Given the description of an element on the screen output the (x, y) to click on. 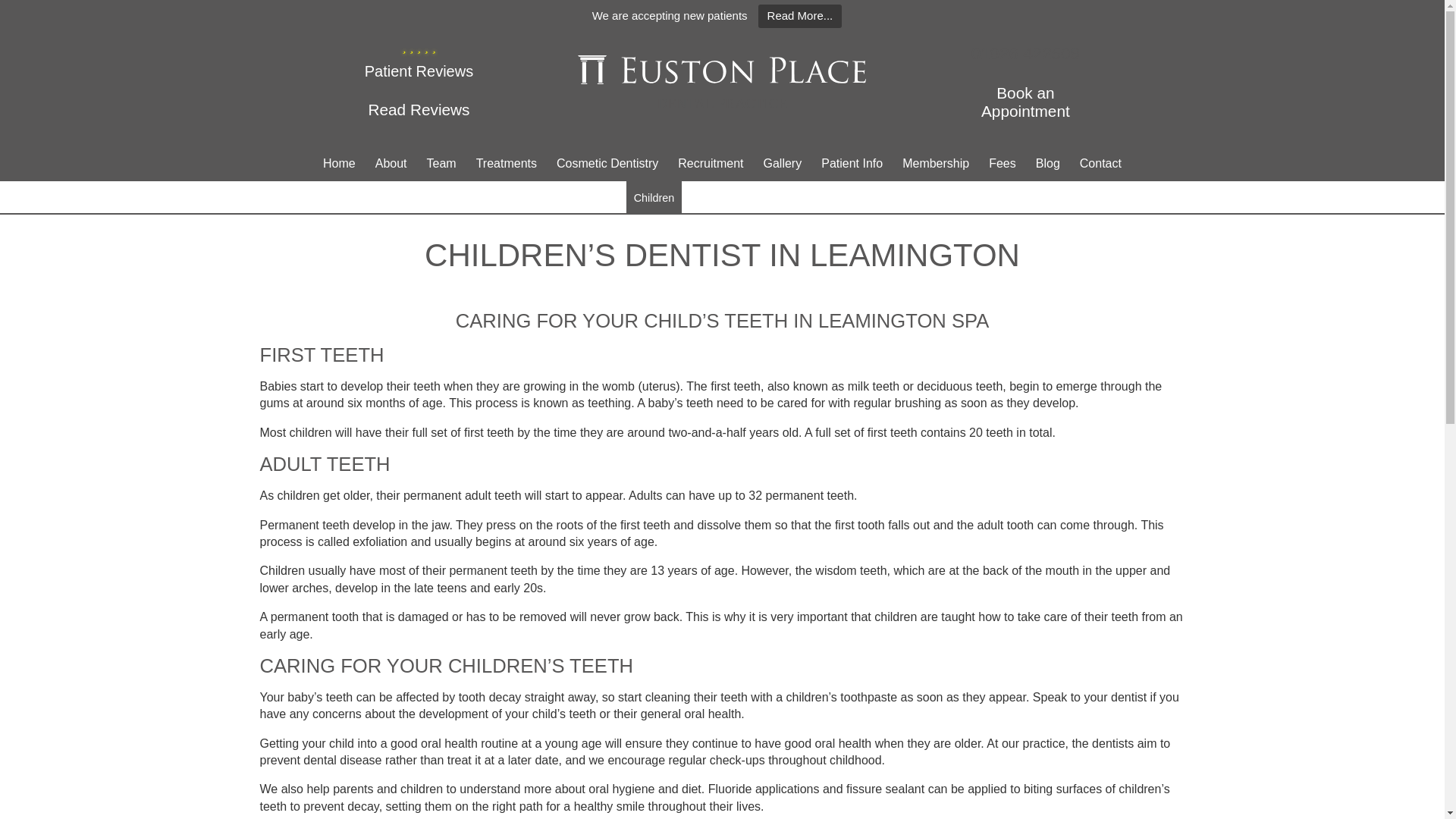
Read More... (800, 15)
01926 422509 (1024, 53)
Recruitment (710, 163)
General Dentistry (447, 197)
Euston Place Dental Practice - home (722, 85)
Gallery (783, 163)
General (447, 197)
Children (654, 197)
Preventative Dentistry (812, 197)
Restorative Dentistry (716, 197)
Team (440, 163)
Membership (935, 163)
Patient Info (851, 163)
Call us now on: 01926 422509 (1024, 53)
Book an Appointment (1024, 102)
